Given the description of an element on the screen output the (x, y) to click on. 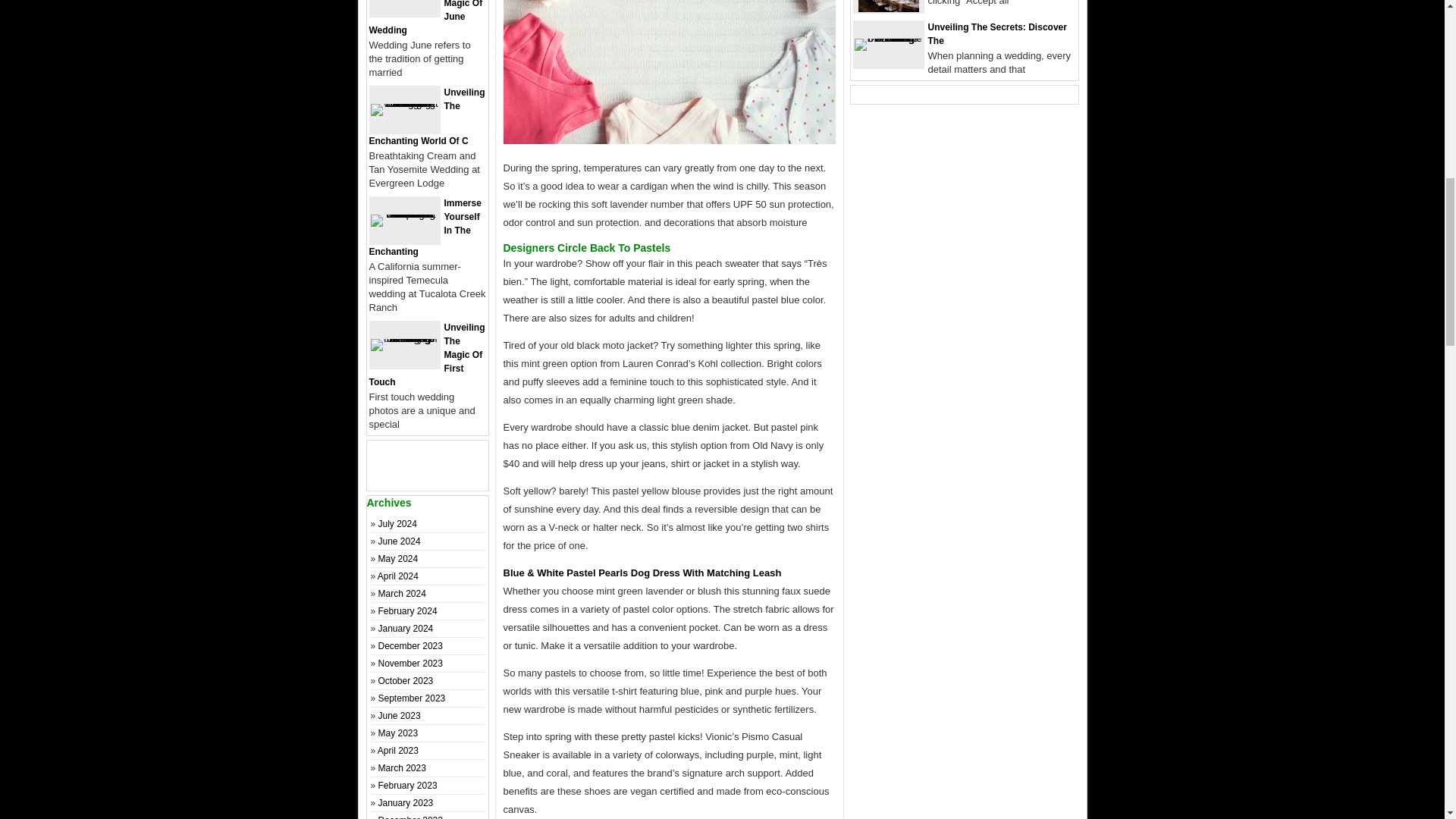
March 2024 (402, 593)
Pastels Clothes (669, 72)
Unveiling The Enchanting World Of C (426, 116)
September 2023 (411, 697)
Immerse Yourself In The Enchanting (424, 227)
October 2023 (405, 680)
January 2023 (405, 802)
February 2023 (408, 785)
Unveiling The Magic Of First Touch (426, 354)
December 2022 (410, 816)
July 2024 (397, 523)
February 2024 (408, 611)
December 2023 (410, 645)
April 2023 (398, 750)
March 2023 (402, 767)
